Given the description of an element on the screen output the (x, y) to click on. 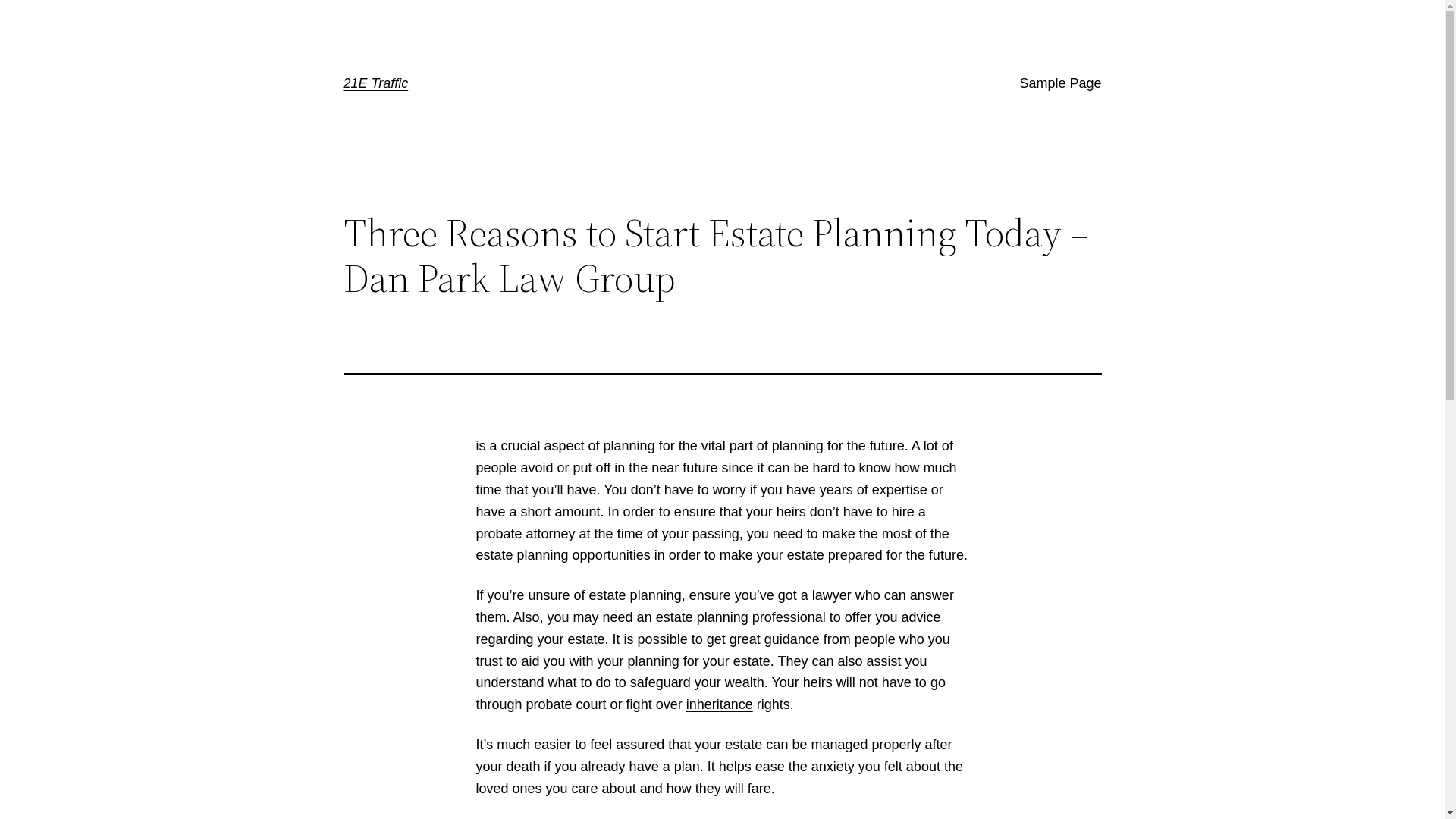
inheritance Element type: text (719, 704)
21E Traffic Element type: text (374, 83)
Sample Page Element type: text (1060, 83)
